Given the description of an element on the screen output the (x, y) to click on. 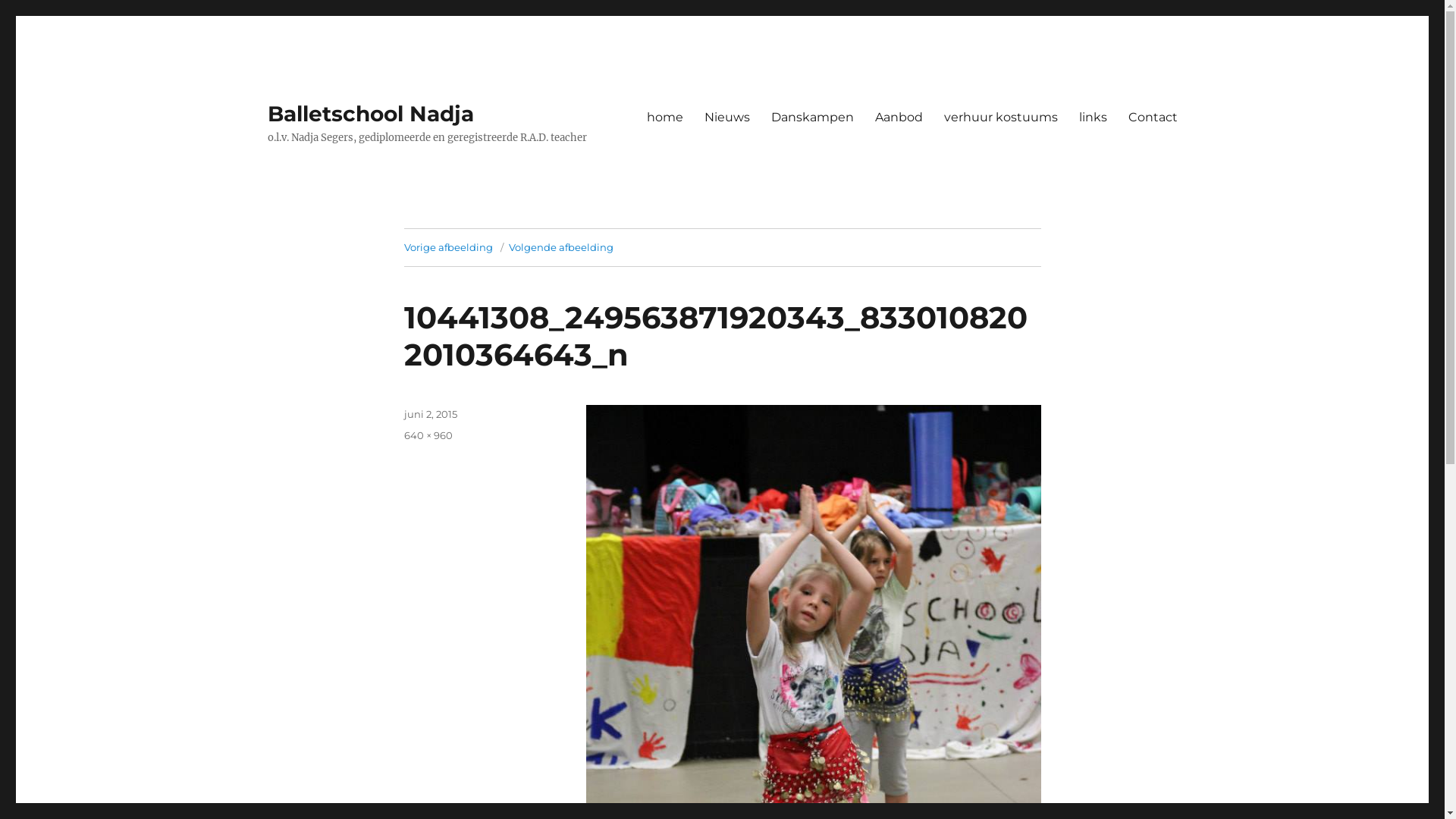
verhuur kostuums Element type: text (999, 116)
Aanbod Element type: text (898, 116)
home Element type: text (664, 116)
Nieuws Element type: text (726, 116)
juni 2, 2015 Element type: text (429, 413)
Contact Element type: text (1152, 116)
links Element type: text (1092, 116)
Vorige afbeelding Element type: text (447, 247)
Danskampen Element type: text (811, 116)
Volgende afbeelding Element type: text (560, 247)
Balletschool Nadja Element type: text (369, 113)
